Given the description of an element on the screen output the (x, y) to click on. 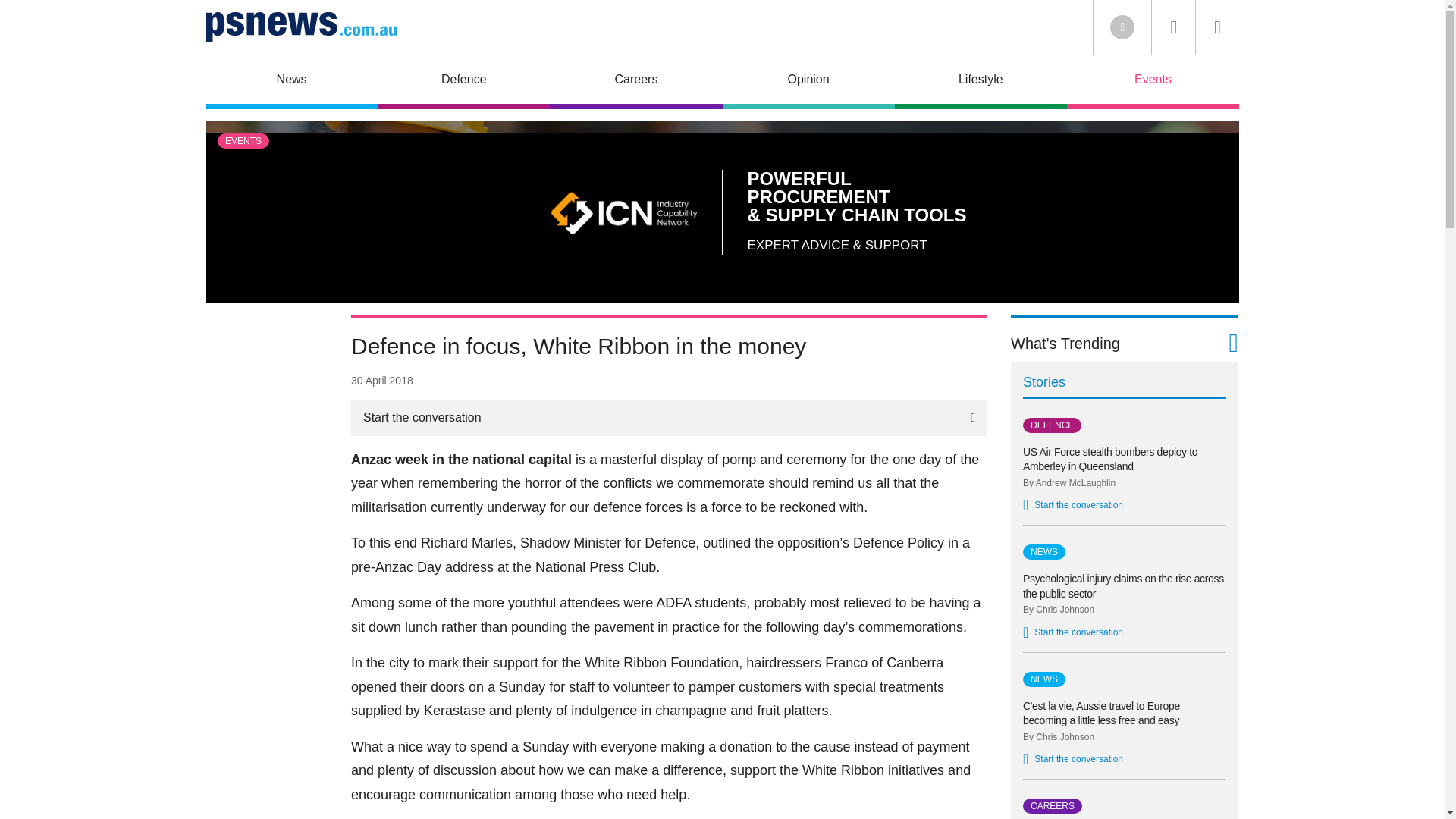
LinkedIn (1121, 27)
News (291, 81)
PS News Home (300, 26)
Defence (463, 81)
